Given the description of an element on the screen output the (x, y) to click on. 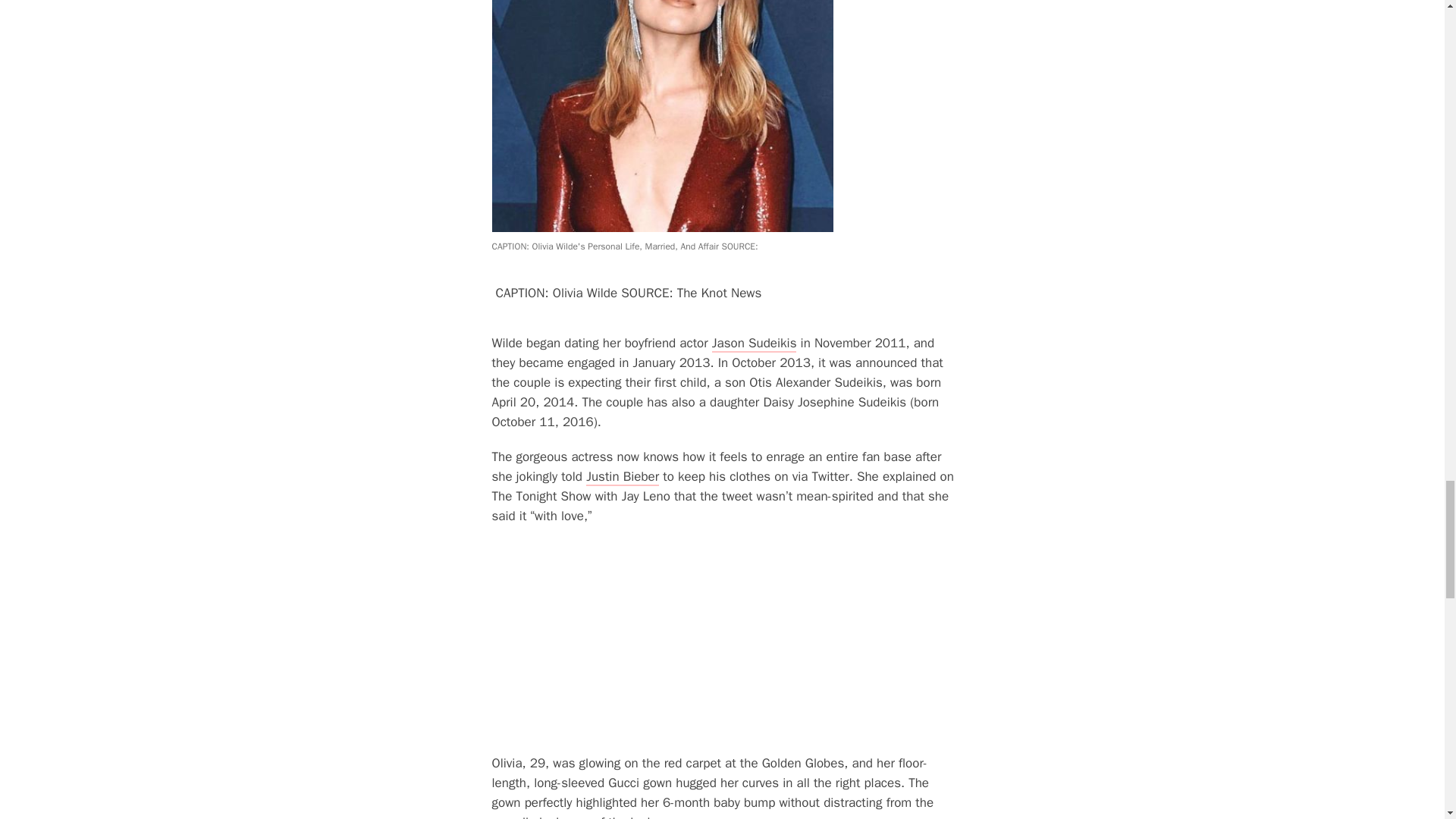
Jason Sudeikis (753, 343)
Justin Bieber (622, 477)
